Given the description of an element on the screen output the (x, y) to click on. 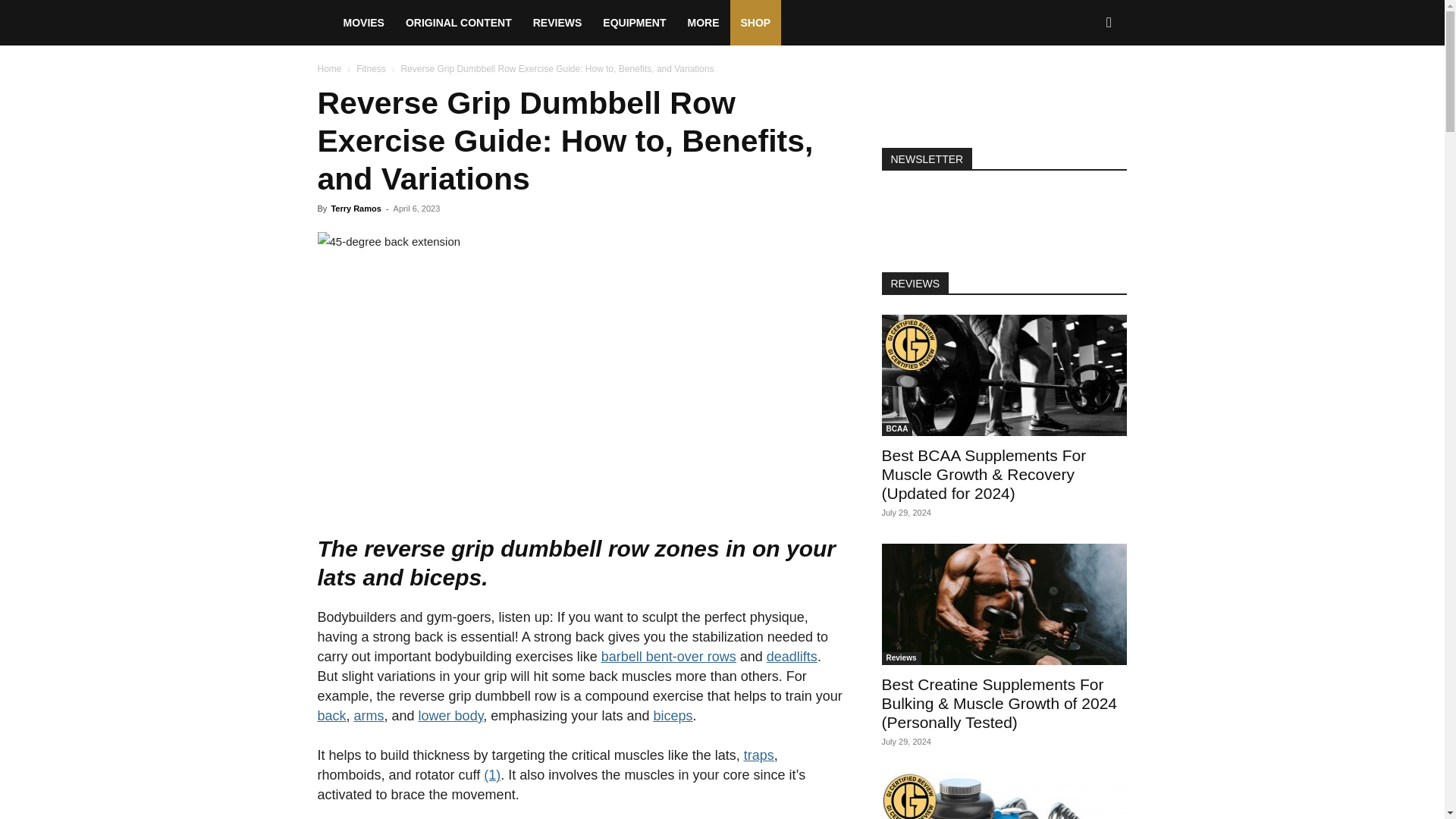
View all posts in Fitness (370, 68)
